Given the description of an element on the screen output the (x, y) to click on. 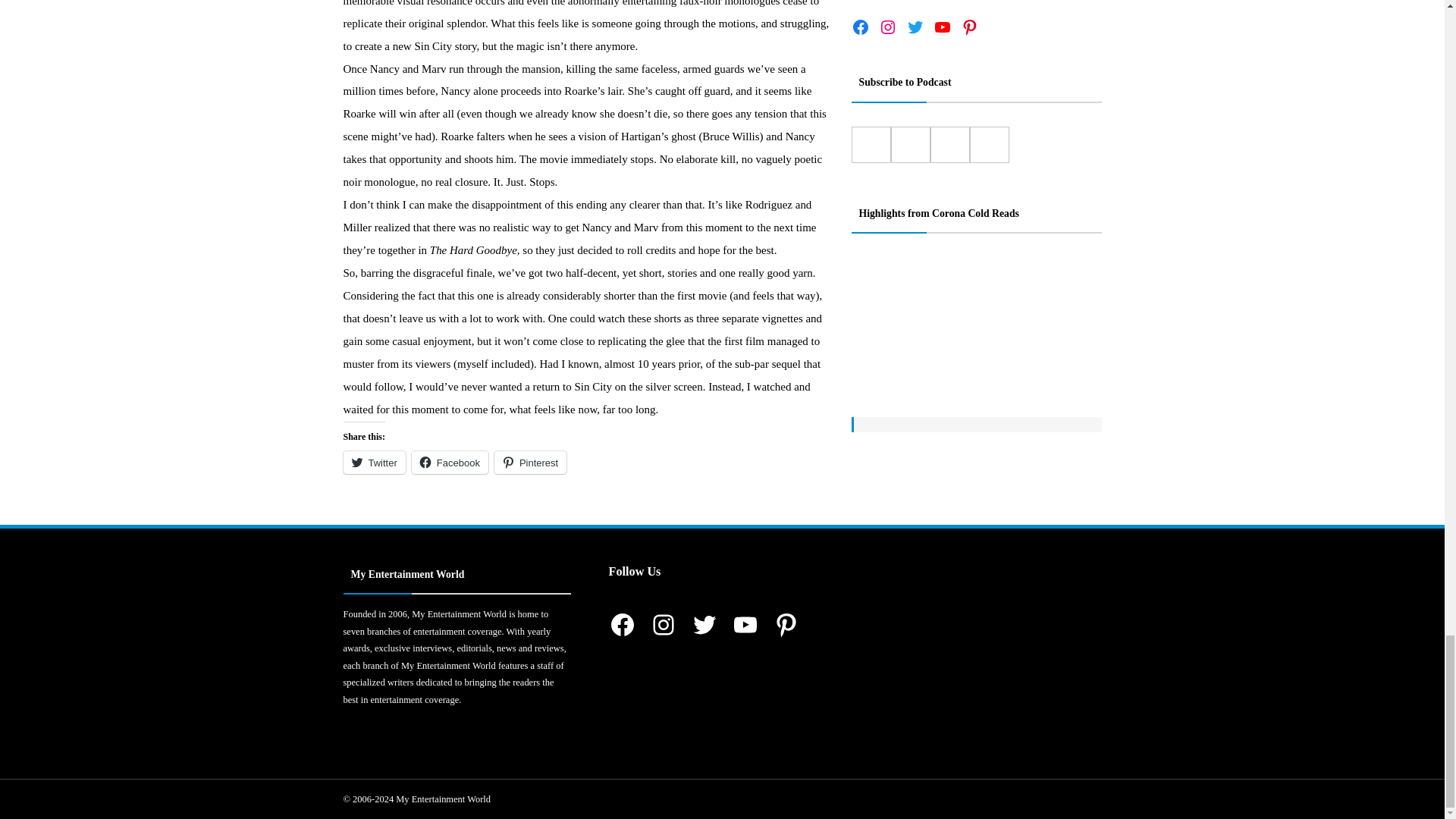
Click to share on Twitter (373, 462)
Twitter (373, 462)
Pinterest (530, 462)
Click to share on Facebook (449, 462)
Click to share on Pinterest (530, 462)
Facebook (449, 462)
